Given the description of an element on the screen output the (x, y) to click on. 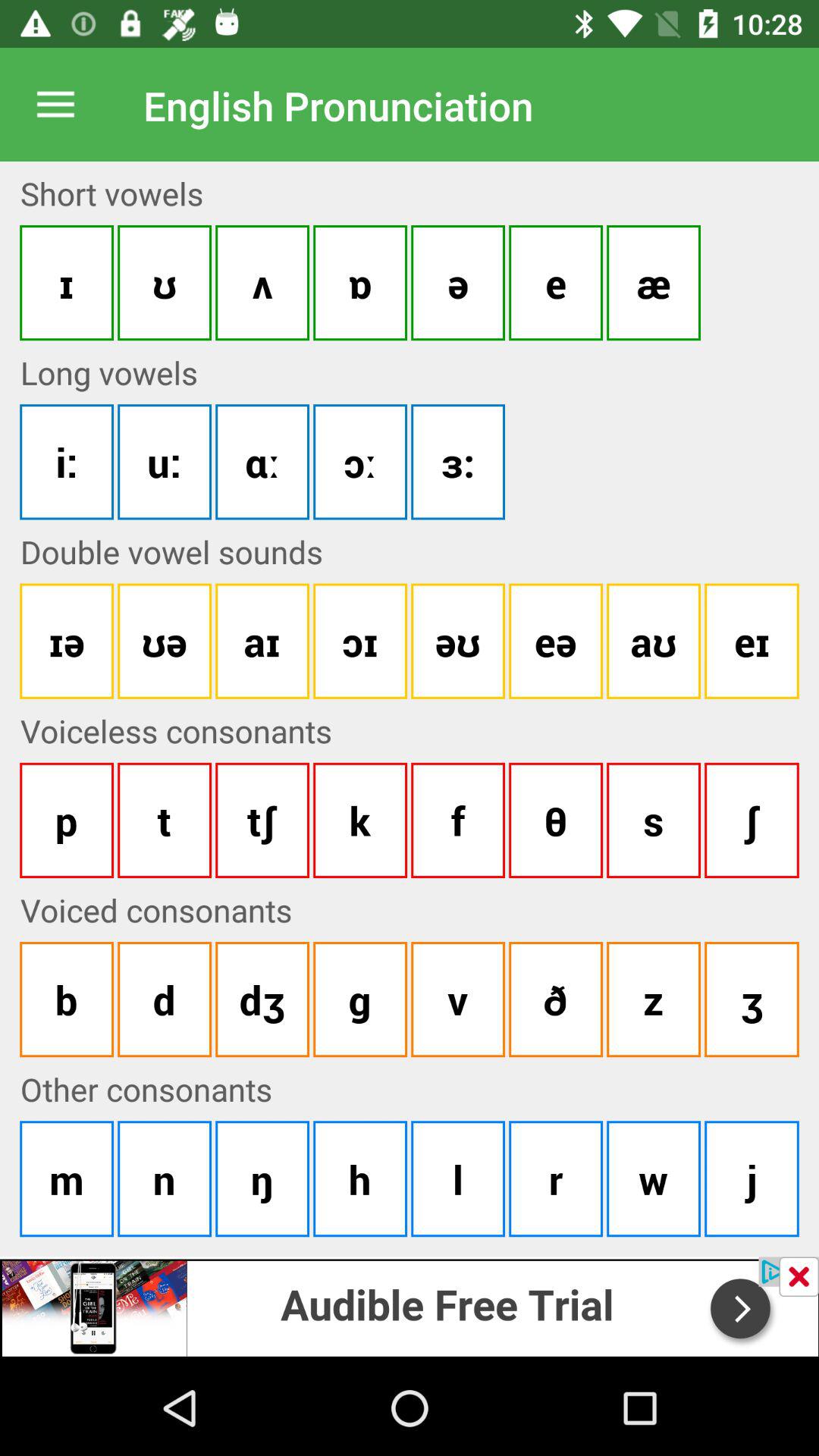
go back (799, 1276)
